Given the description of an element on the screen output the (x, y) to click on. 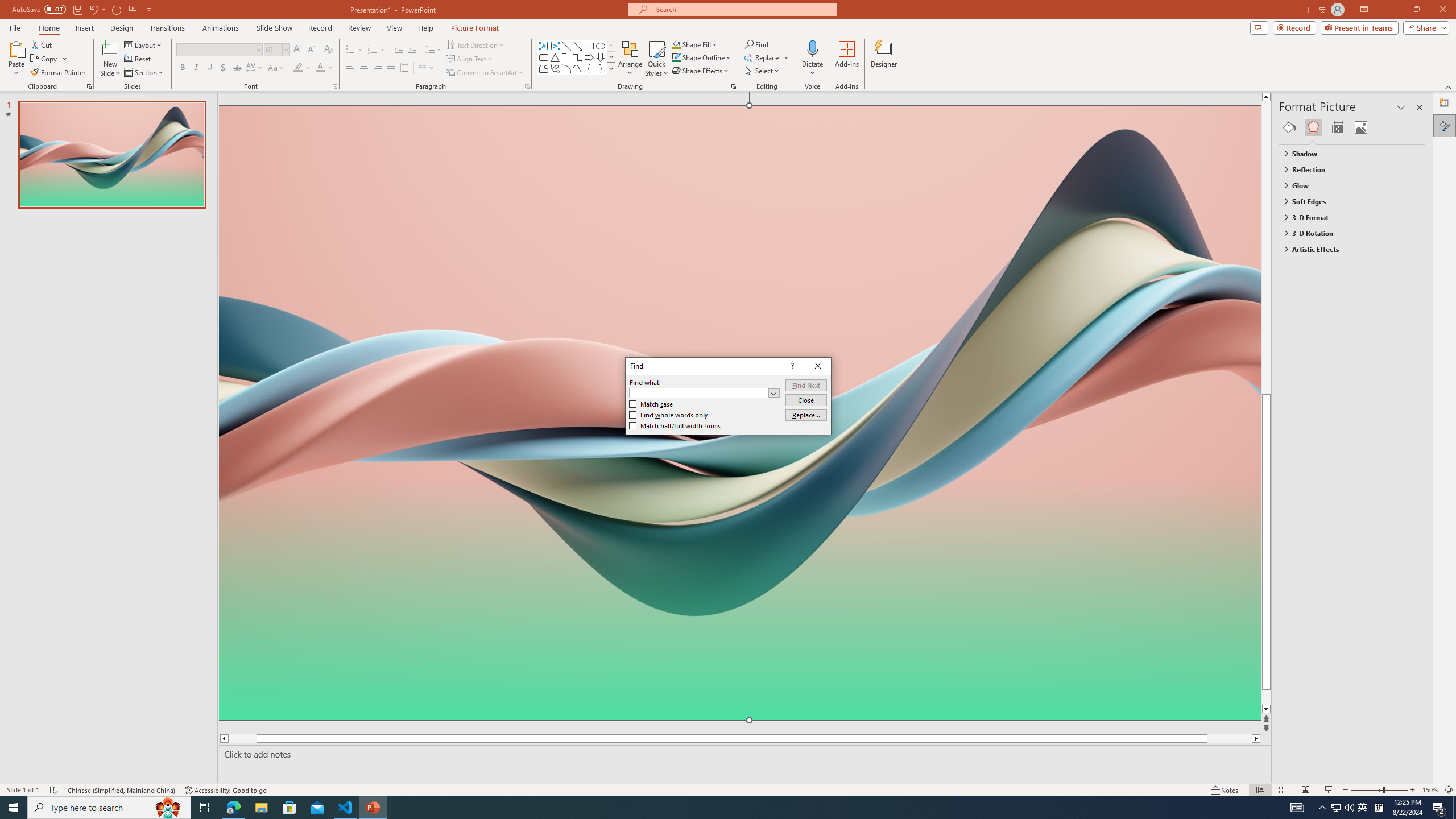
Italic (195, 67)
Arrow: Down (600, 57)
Quick Access Toolbar (82, 9)
Font Size (276, 49)
Action Center, 2 new notifications (1439, 807)
Clear Formatting (327, 49)
Share (1423, 27)
Vertical Text Box (554, 45)
Start (13, 807)
Change Case (276, 67)
Decrease Font Size (310, 49)
Reading View (1305, 790)
Zoom 150% (1430, 790)
Notes  (1225, 790)
